Given the description of an element on the screen output the (x, y) to click on. 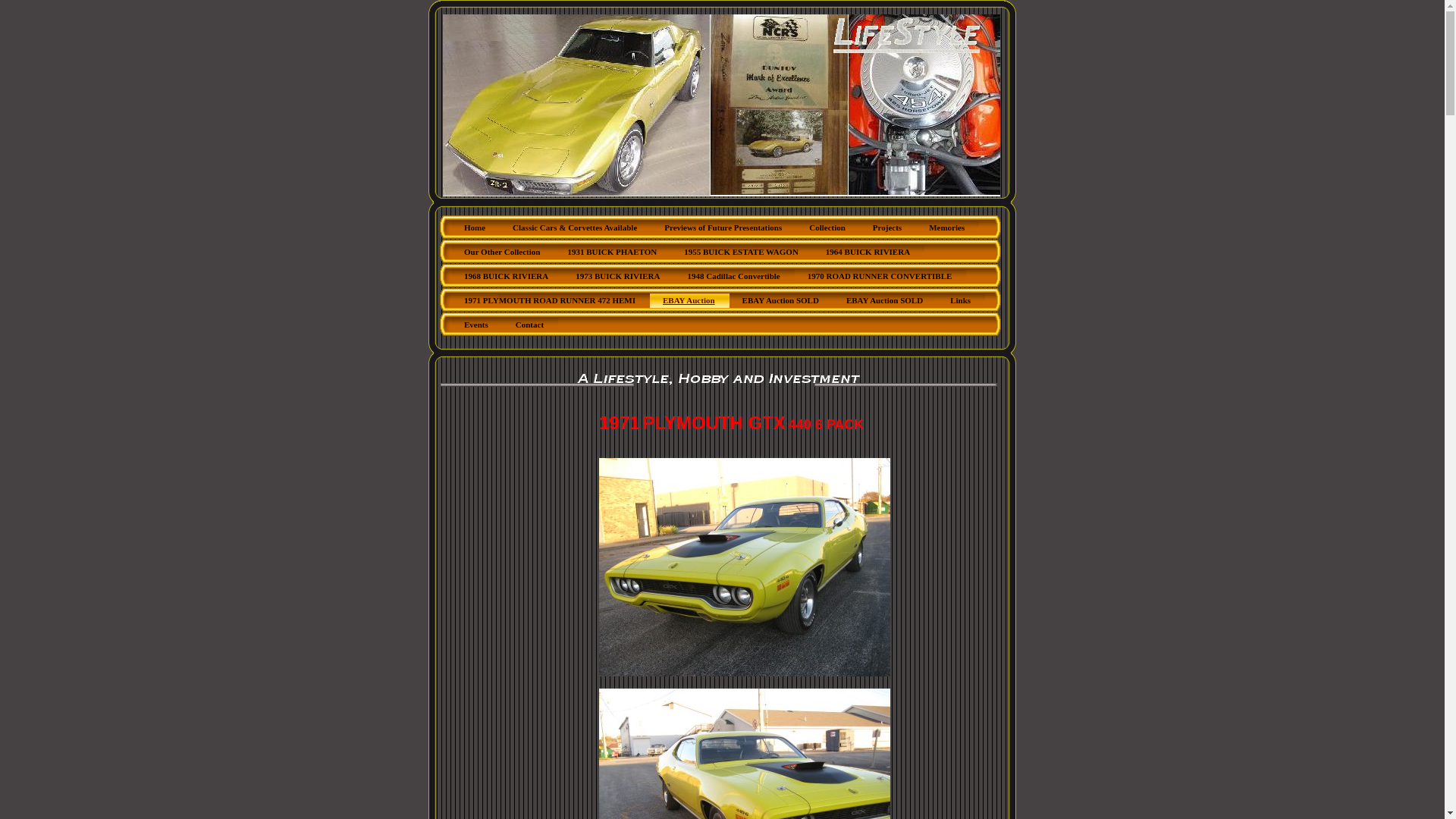
1971 PLYMOUTH ROAD RUNNER 472 HEMI Element type: text (550, 301)
1968 BUICK RIVIERA Element type: text (506, 276)
1970 ROAD RUNNER CONVERTIBLE Element type: text (880, 276)
1964 BUICK RIVIERA Element type: text (868, 252)
EBAY Auction SOLD Element type: text (781, 301)
1931 BUICK PHAETON Element type: text (612, 252)
Links Element type: text (961, 301)
Contact Element type: text (530, 325)
1948 Cadillac Convertible Element type: text (734, 276)
Events Element type: text (476, 325)
EBAY Auction SOLD Element type: text (885, 301)
Our Other Collection Element type: text (502, 252)
1955 BUICK ESTATE WAGON Element type: text (741, 252)
Previews of Future Presentations Element type: text (723, 228)
Memories Element type: text (947, 228)
Projects Element type: text (887, 228)
Classic Cars & Corvettes Available Element type: text (575, 228)
Collection Element type: text (827, 228)
EBAY Auction Element type: text (689, 301)
1973 BUICK RIVIERA Element type: text (618, 276)
Home Element type: text (475, 228)
